Given the description of an element on the screen output the (x, y) to click on. 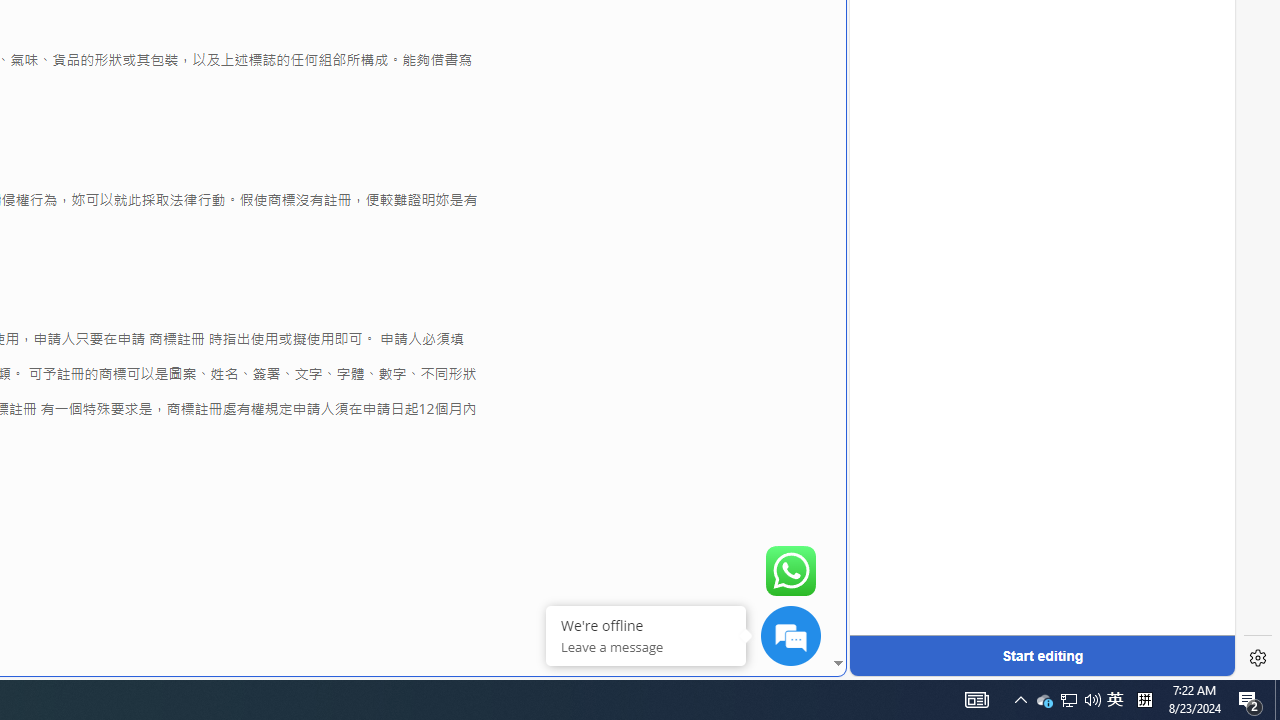
MSN (687, 223)
